Given the description of an element on the screen output the (x, y) to click on. 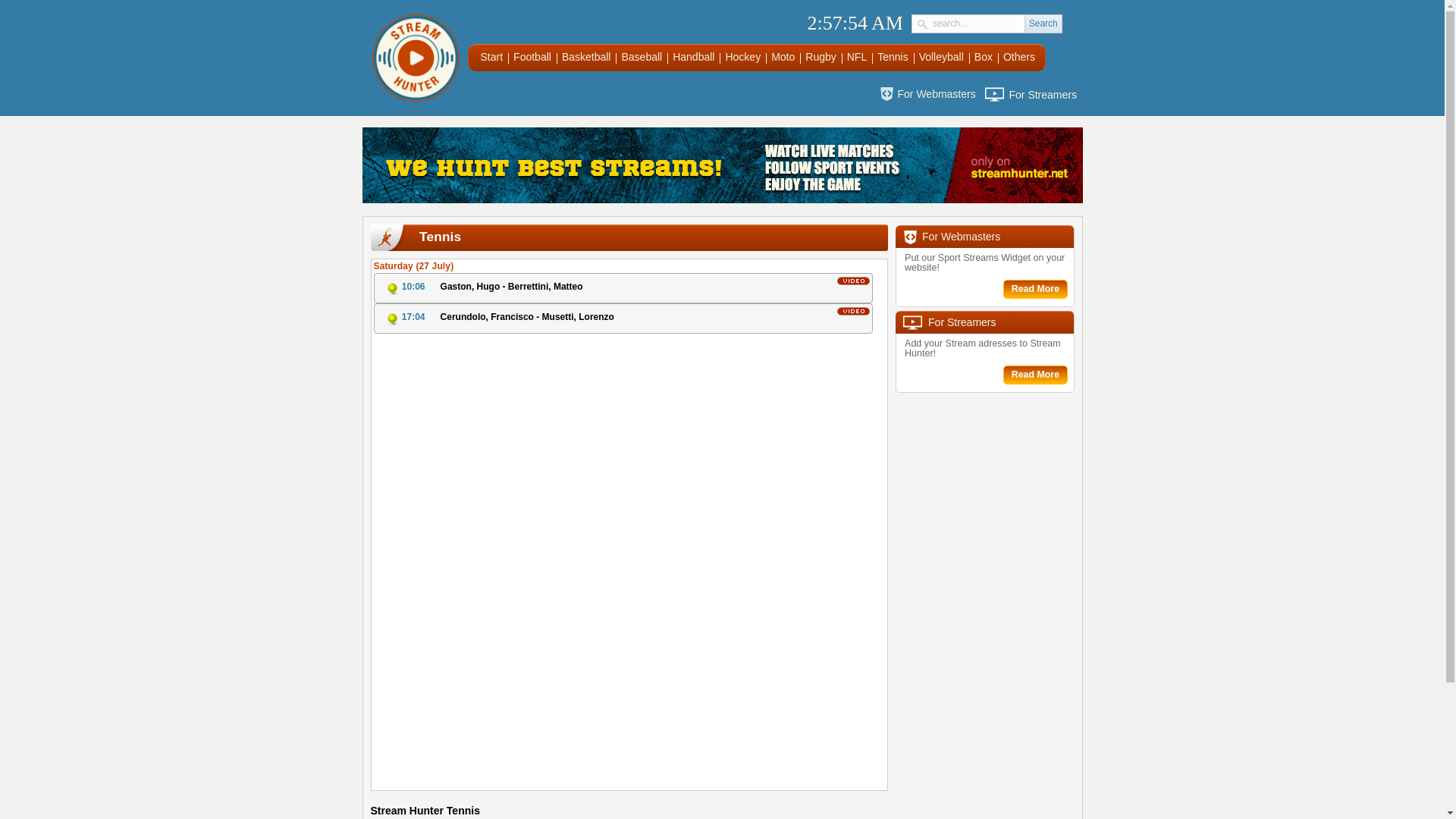
Tennis (892, 56)
Football (532, 56)
Others (1019, 56)
Start (491, 56)
Basketball (586, 56)
10:06Gaston, Hugo - Berrettini, Matteo (622, 287)
Hockey (742, 56)
Volleyball (940, 56)
NFL (856, 56)
17:04Cerundolo, Francisco - Musetti, Lorenzo (622, 318)
Box (983, 56)
Handball (693, 56)
Baseball (641, 56)
Read More (1035, 289)
search... (978, 23)
